Given the description of an element on the screen output the (x, y) to click on. 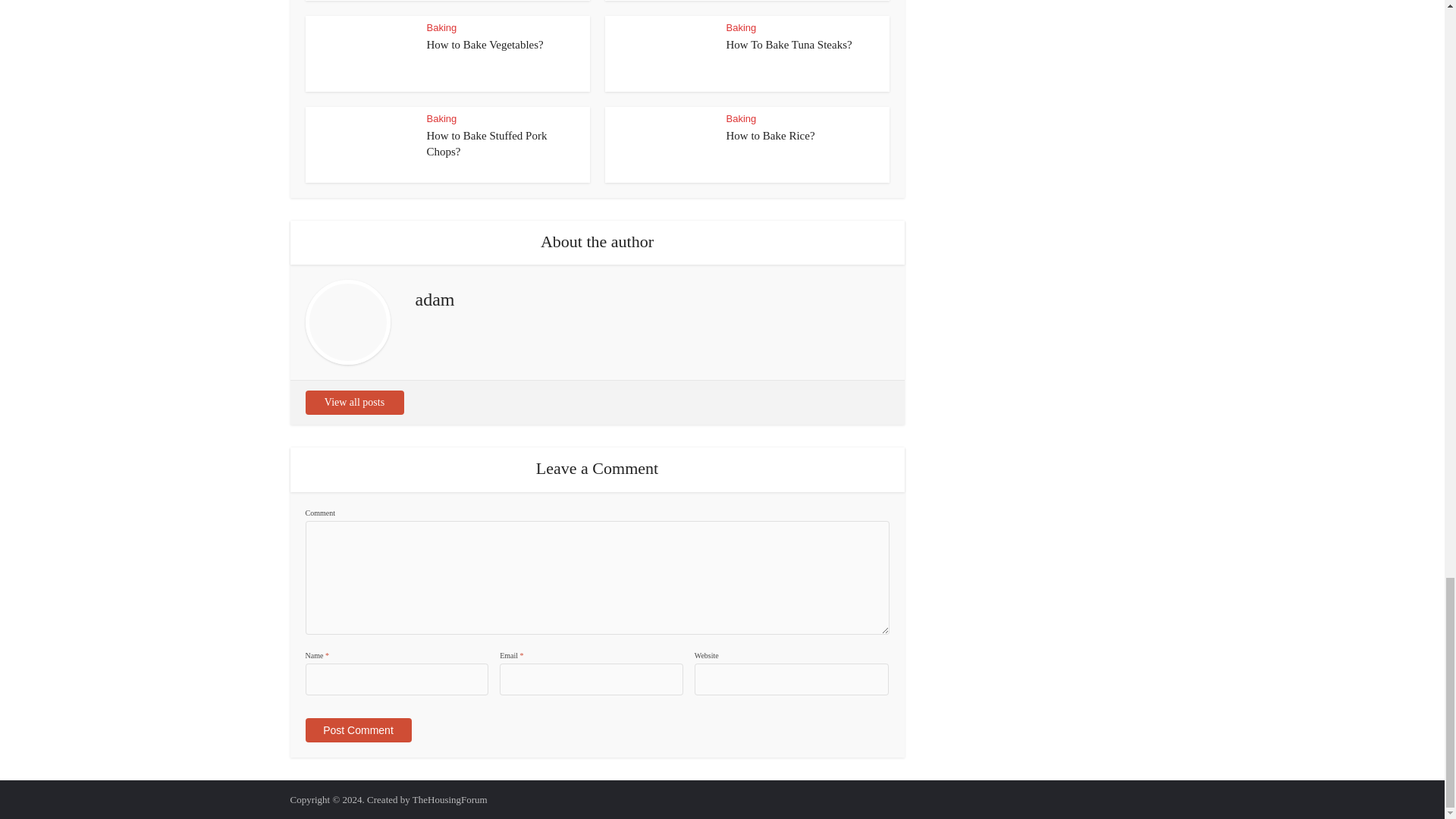
How to Bake Rice? (770, 135)
How to Bake Vegetables? (484, 44)
Baking (441, 118)
How to Bake Vegetables? (484, 44)
Baking (741, 118)
How To Bake Tuna Steaks? (788, 44)
Post Comment (357, 730)
Baking (741, 27)
How To Bake Tuna Steaks? (788, 44)
How to Bake Stuffed Pork Chops? (486, 143)
Baking (441, 27)
How to Bake Stuffed Pork Chops? (486, 143)
